Given the description of an element on the screen output the (x, y) to click on. 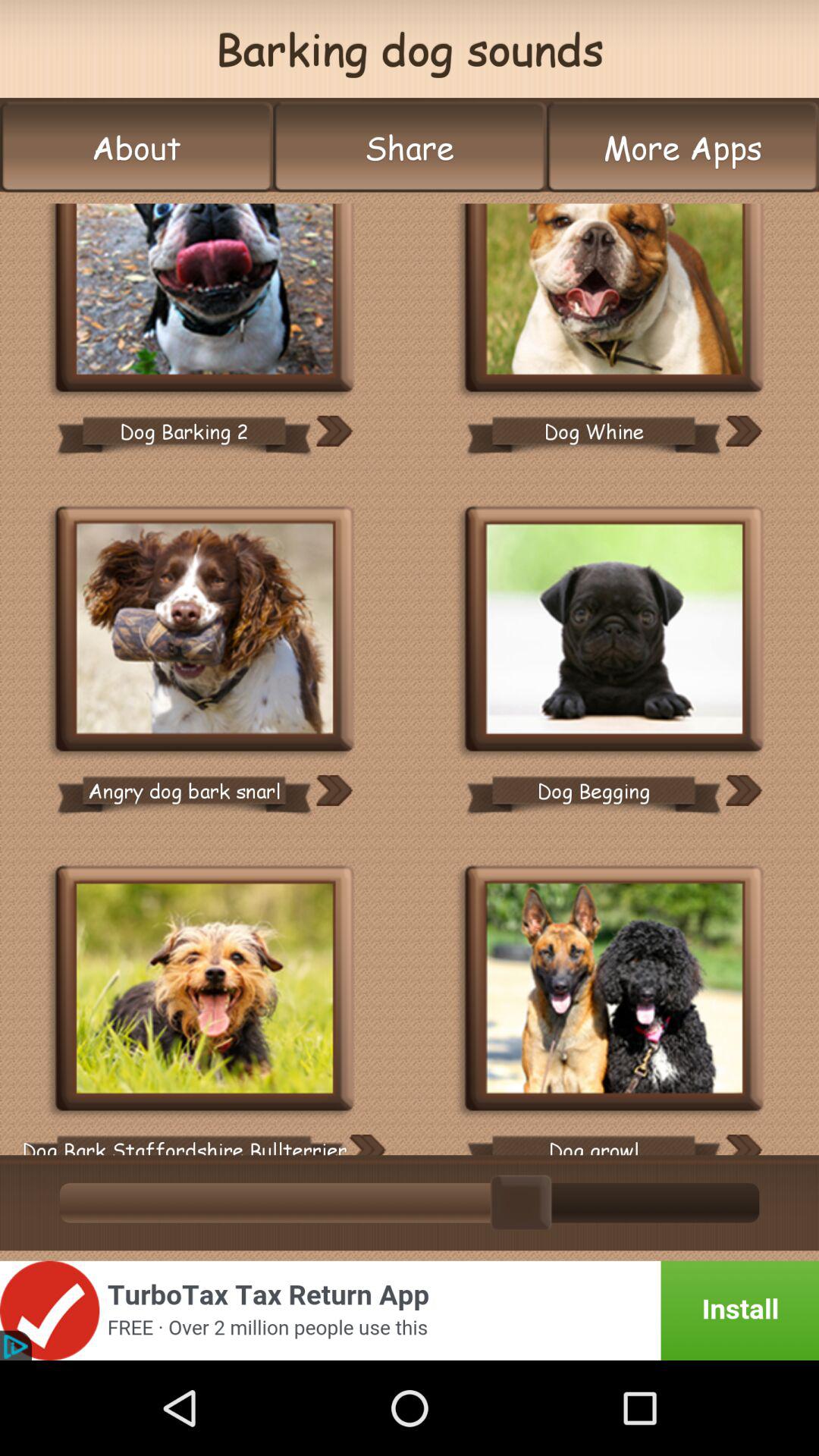
click to move option (743, 790)
